Given the description of an element on the screen output the (x, y) to click on. 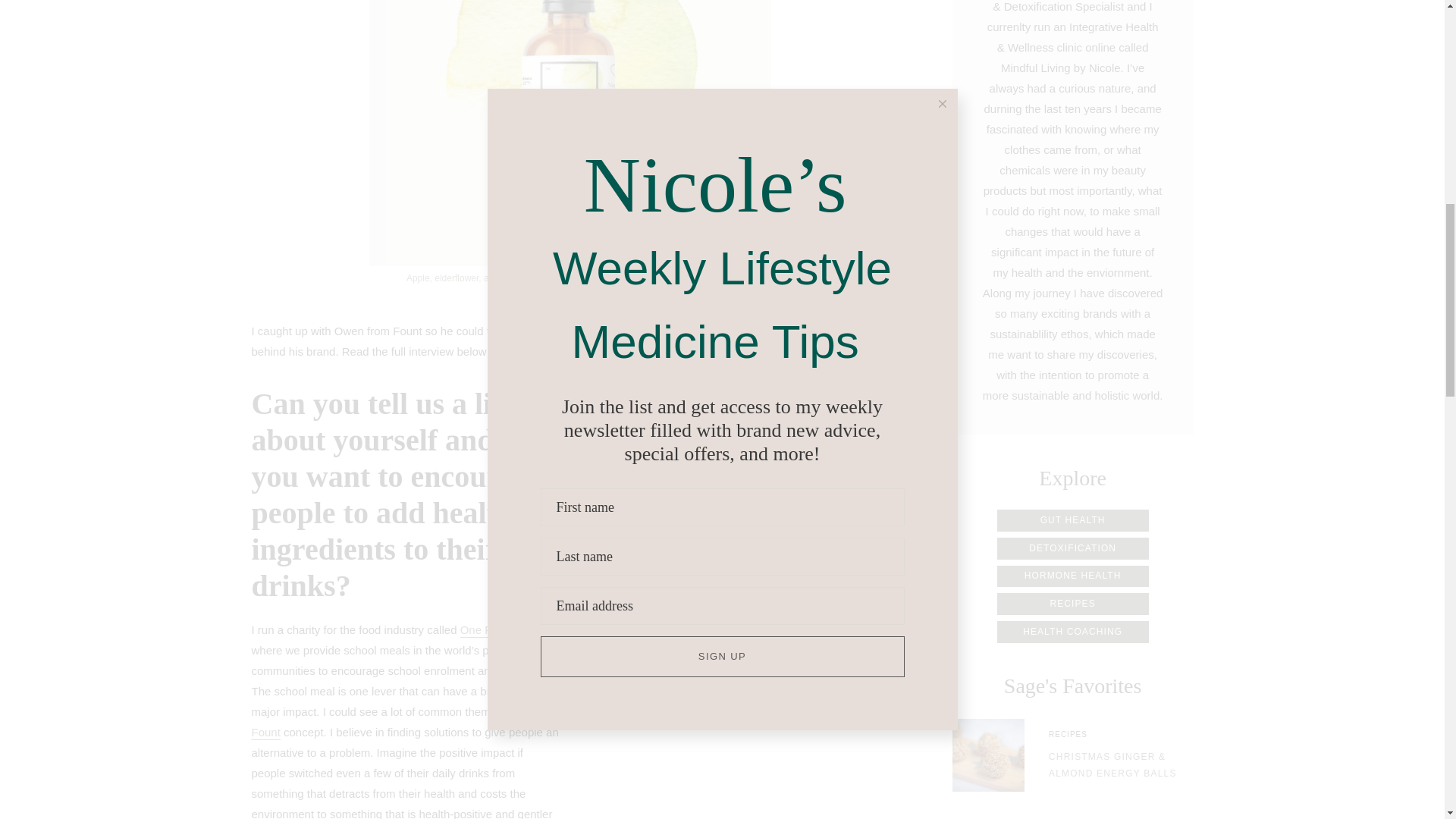
One Feeds Two (500, 629)
Fount (266, 731)
